Given the description of an element on the screen output the (x, y) to click on. 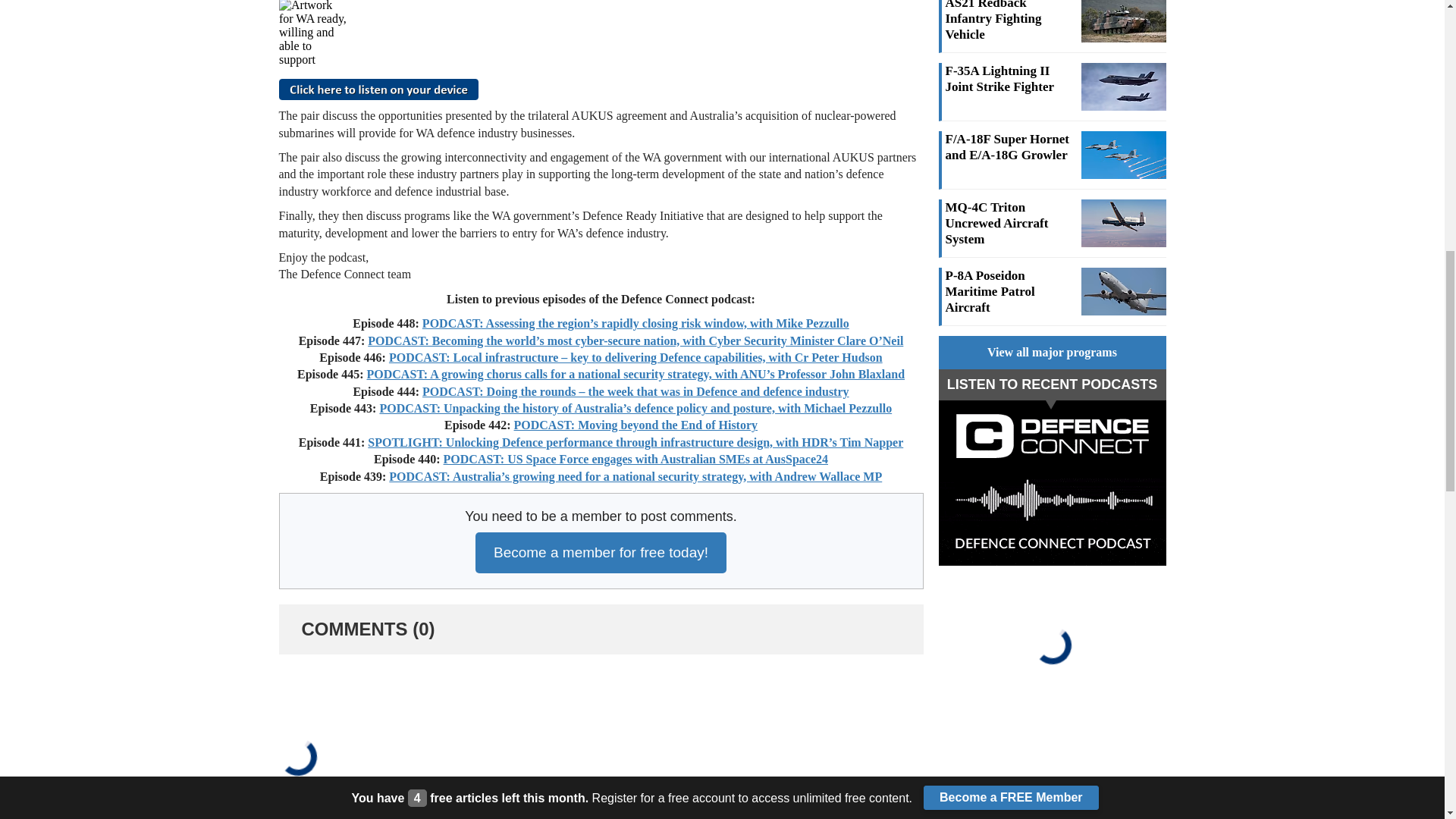
Libsyn Player (601, 33)
